Given the description of an element on the screen output the (x, y) to click on. 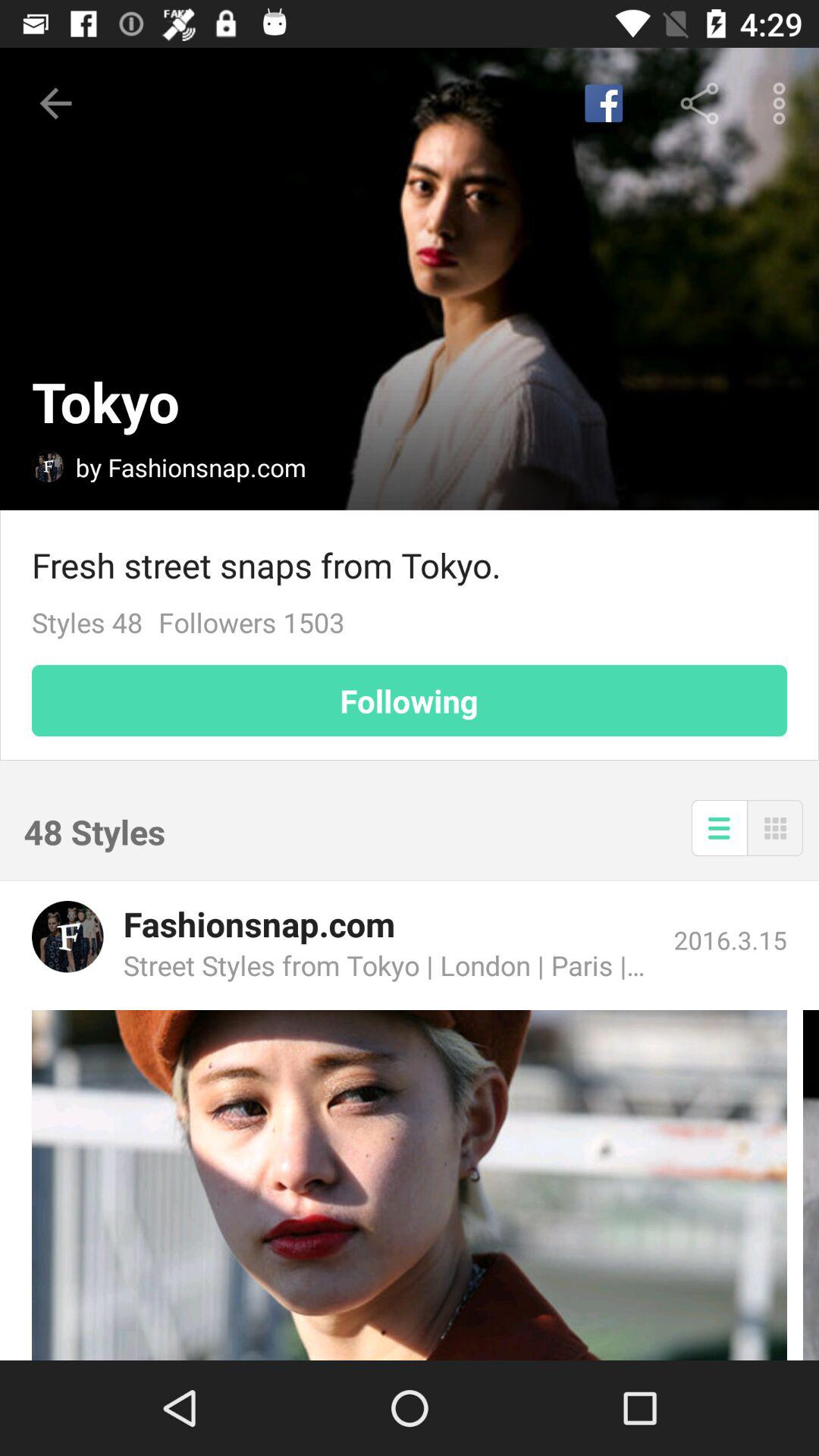
press the item above tokyo item (55, 103)
